Given the description of an element on the screen output the (x, y) to click on. 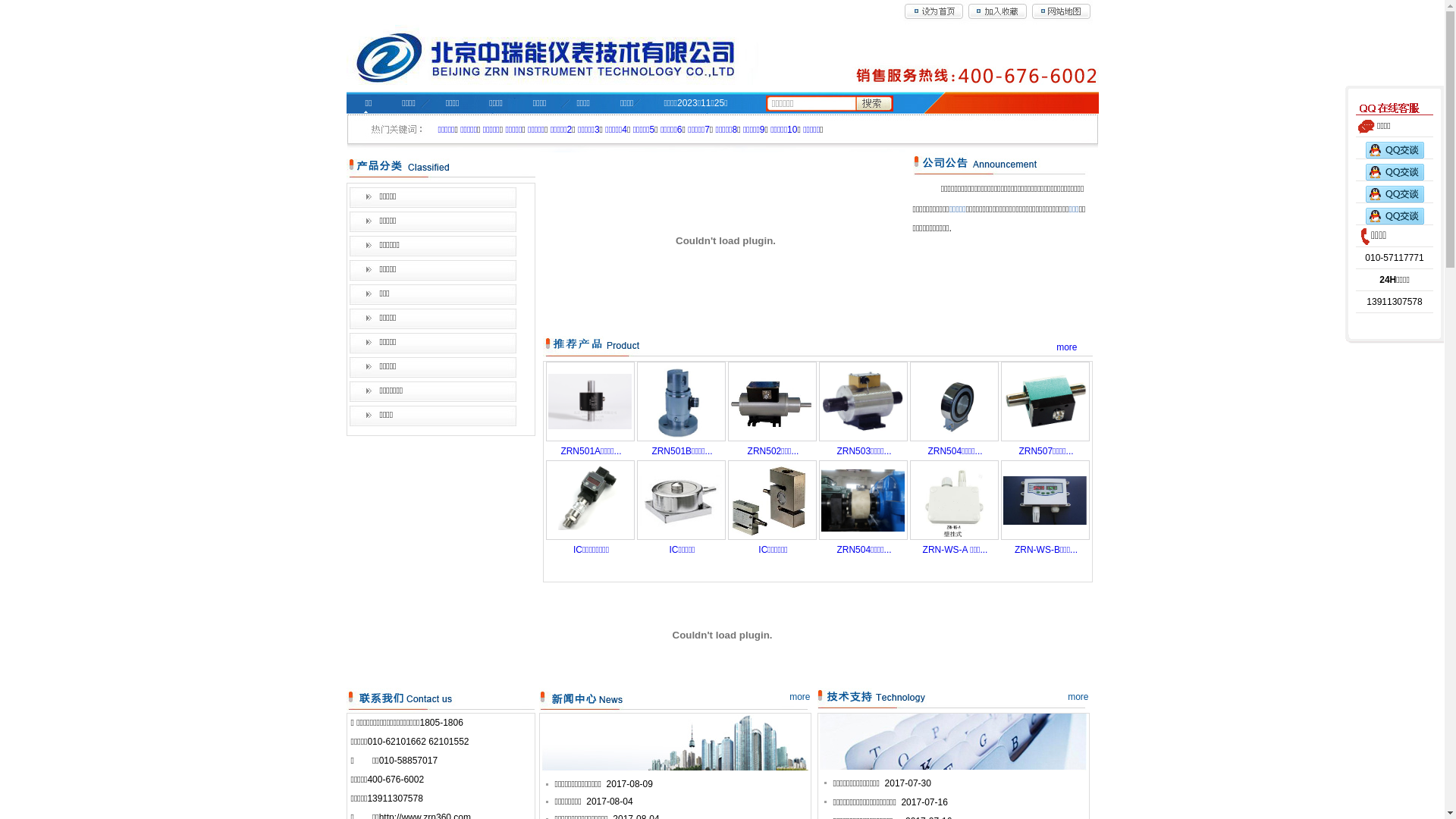
more Element type: text (1066, 347)
more Element type: text (1077, 696)
more Element type: text (799, 696)
